Given the description of an element on the screen output the (x, y) to click on. 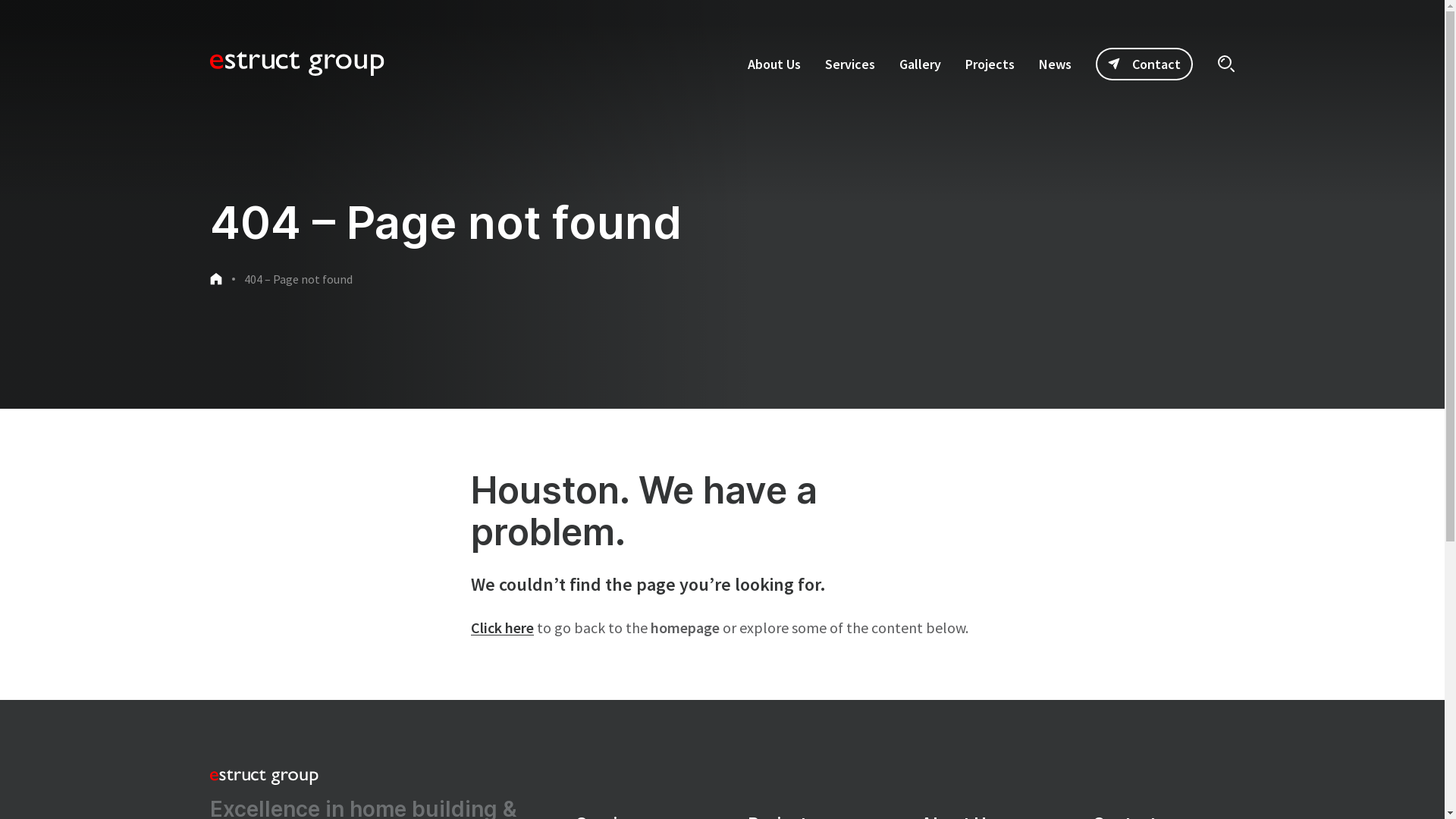
Click here Element type: text (501, 627)
About Us Element type: text (773, 63)
News Element type: text (1054, 63)
Projects Element type: text (988, 63)
Gallery Element type: text (920, 63)
Services Element type: text (850, 63)
Contact Element type: text (1143, 63)
